Given the description of an element on the screen output the (x, y) to click on. 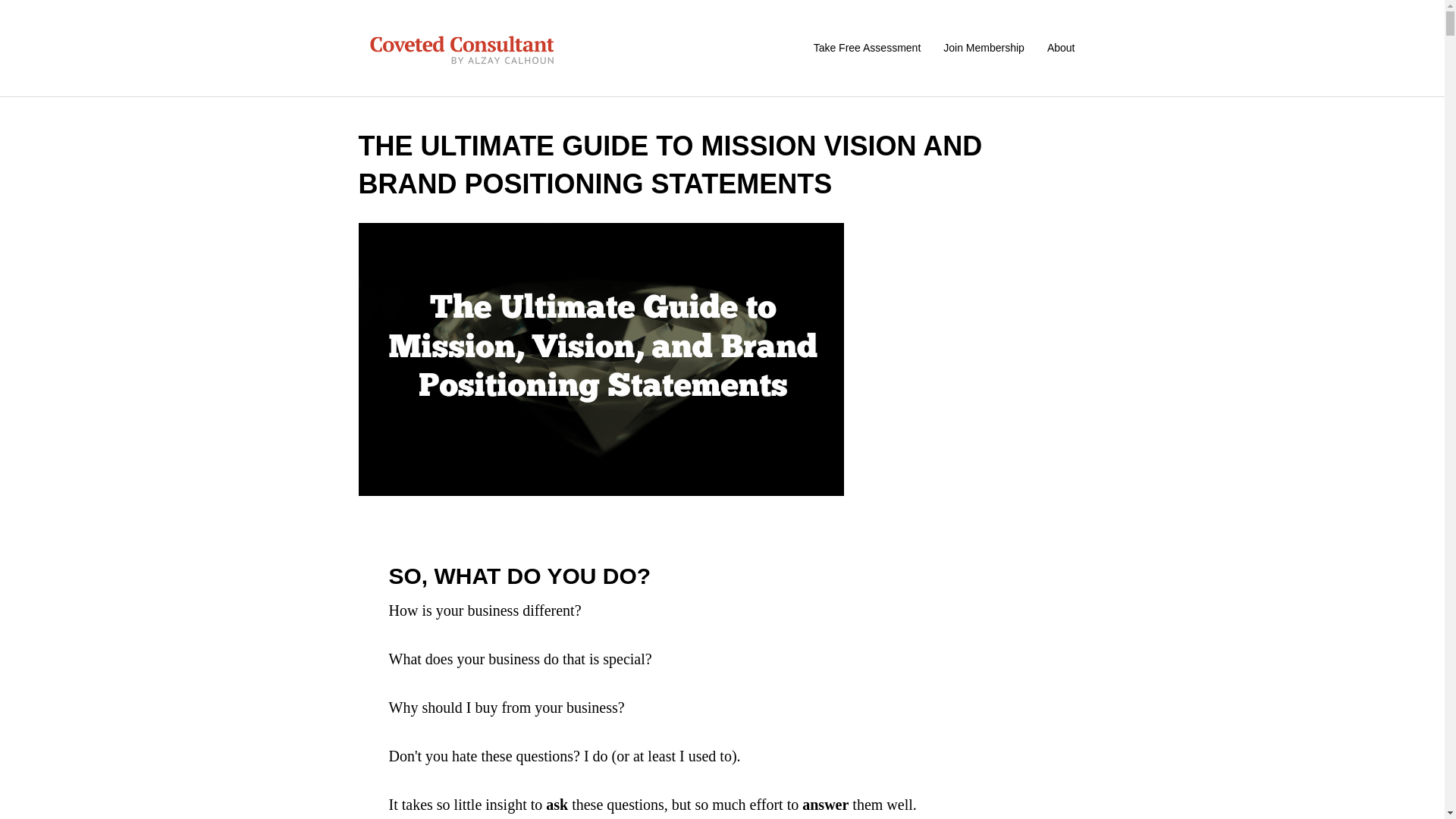
About (1060, 48)
Take Free Assessment (867, 48)
Join Membership (983, 48)
